Given the description of an element on the screen output the (x, y) to click on. 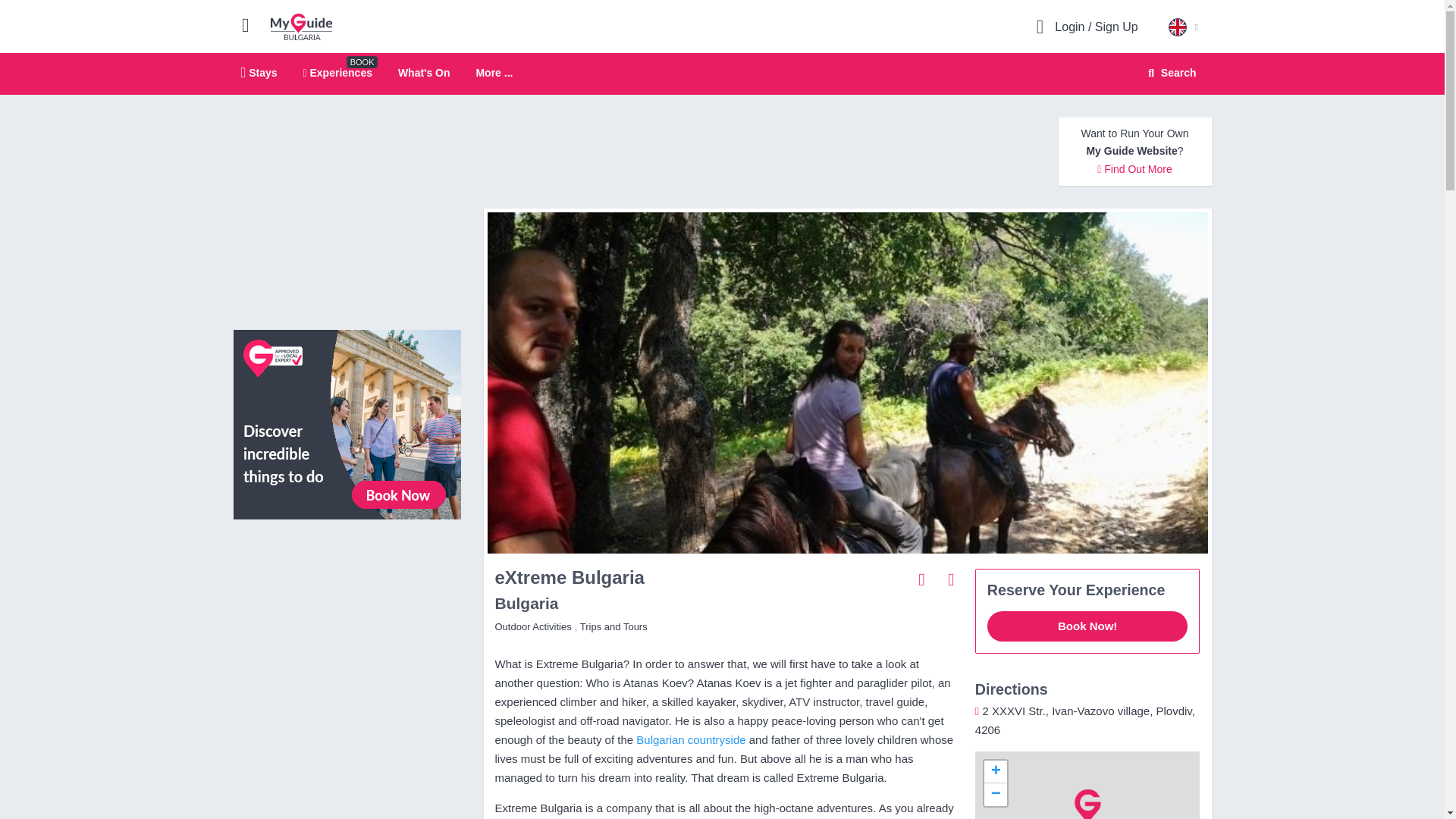
Experiences (337, 72)
What's On (423, 72)
Zoom out (995, 793)
Stays (259, 72)
My Guide Bulgaria (300, 25)
View All Experiences (346, 423)
GetYourGuide Widget (346, 599)
Search (1169, 72)
More ... (721, 74)
Zoom in (494, 72)
